Given the description of an element on the screen output the (x, y) to click on. 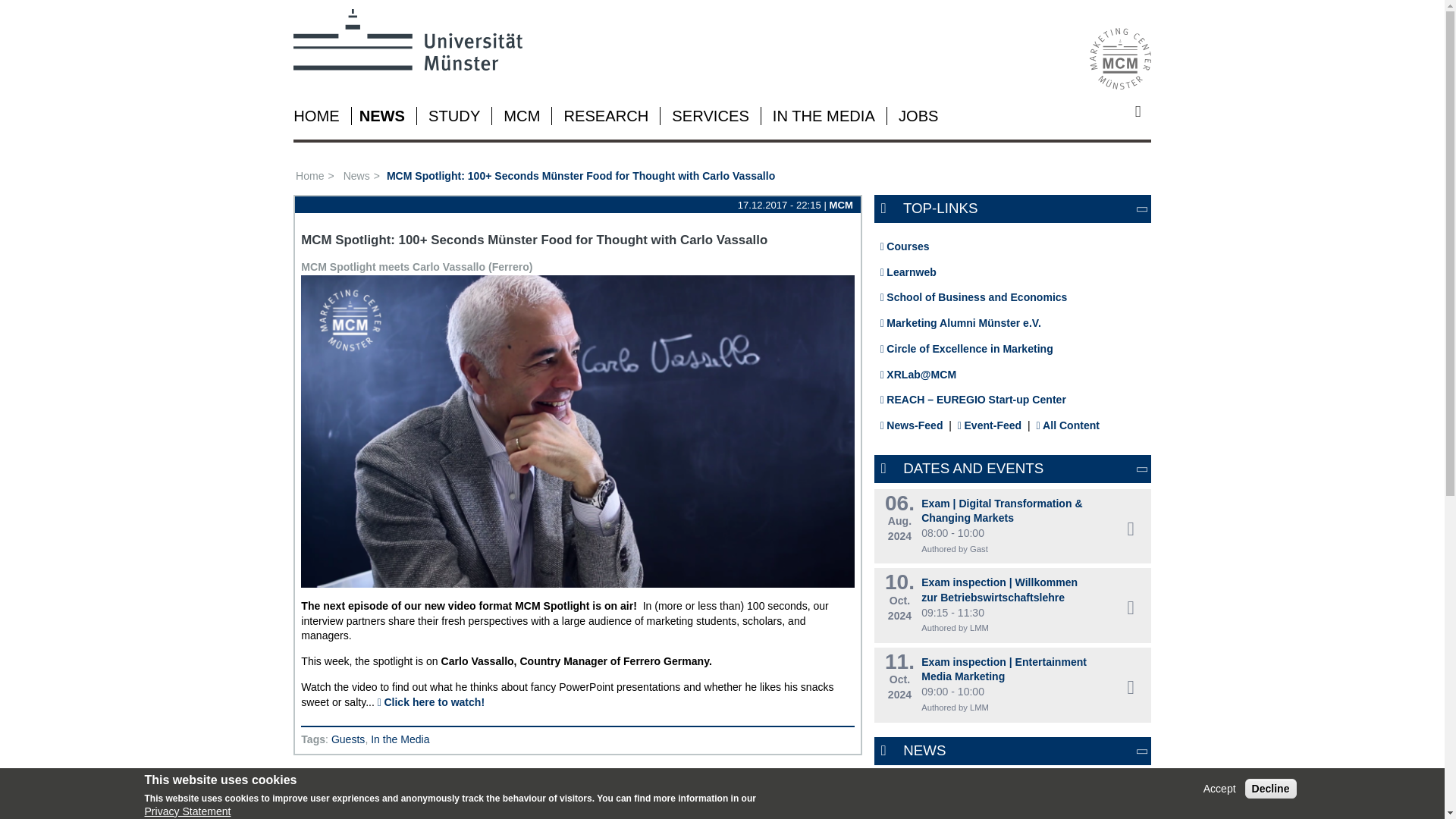
STUDY (454, 115)
TOP-LINKS (1021, 209)
News (362, 175)
Courses (905, 246)
Home (315, 175)
SERVICES (710, 115)
IN THE MEDIA (824, 115)
Search (1143, 111)
MCM (521, 115)
HOME (316, 115)
Click here to watch! (430, 702)
Circle of Excellence in Marketing (966, 348)
RESEARCH (605, 115)
Search (1143, 111)
News-Feed (911, 425)
